Given the description of an element on the screen output the (x, y) to click on. 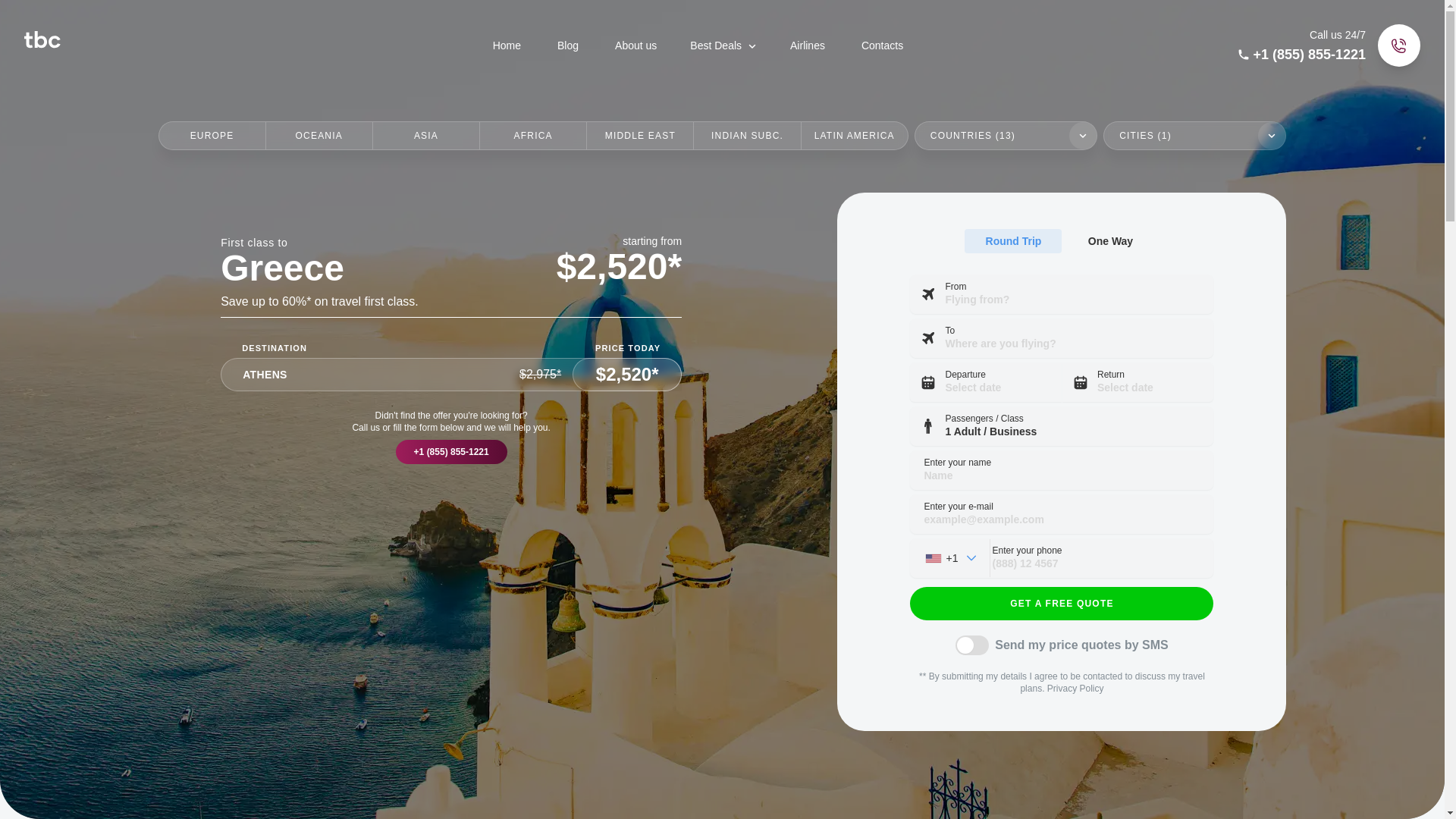
MIDDLE EAST (639, 135)
LATIN AMERICA (853, 135)
TravelBusinessClass.com (256, 38)
OCEANIA (318, 135)
ASIA (425, 135)
Contacts (882, 45)
INDIAN SUBC. (746, 135)
AFRICA (532, 135)
Home (506, 45)
EUROPE (211, 135)
Best Deals (723, 45)
Blog (567, 45)
About us (635, 45)
